Given the description of an element on the screen output the (x, y) to click on. 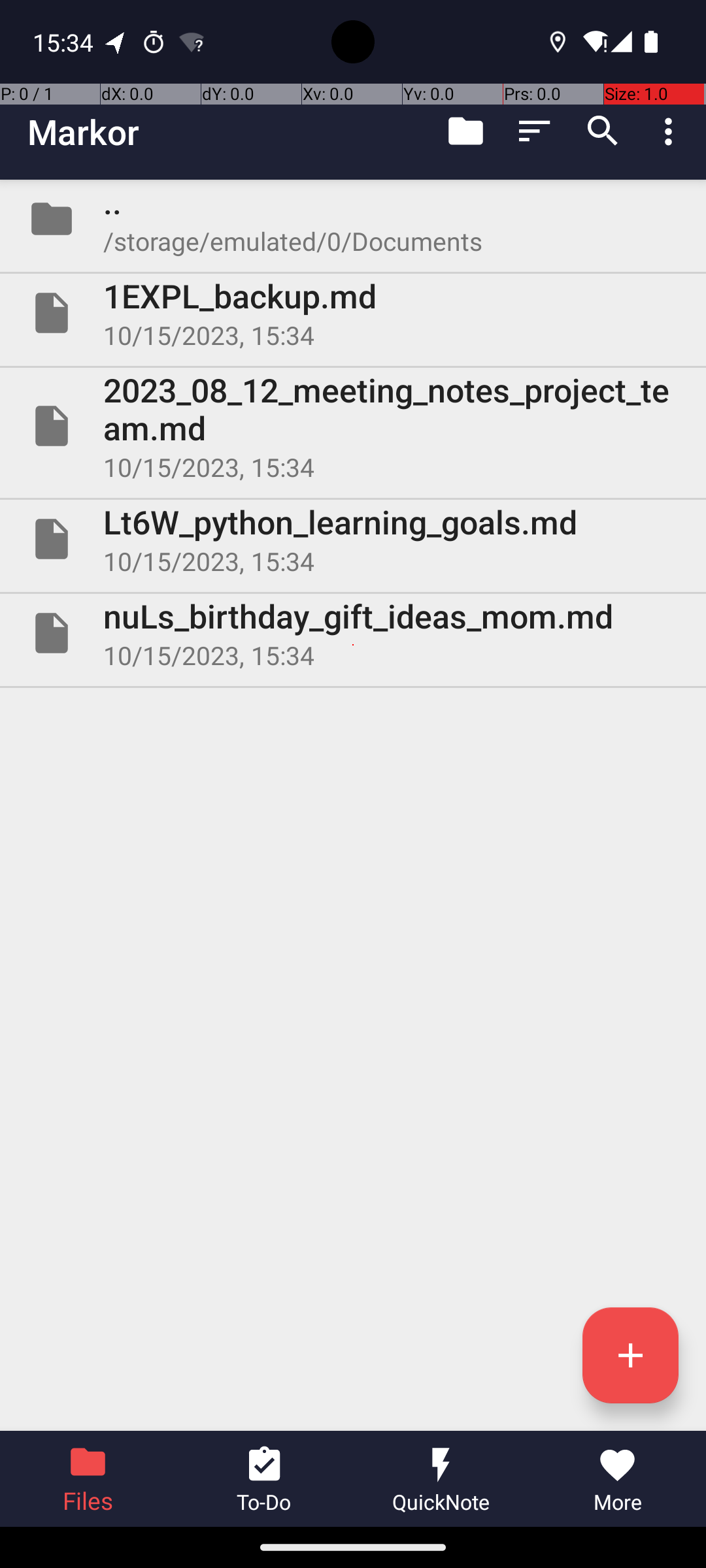
File 1EXPL_backup.md  Element type: android.widget.LinearLayout (353, 312)
File 2023_08_12_meeting_notes_project_team.md  Element type: android.widget.LinearLayout (353, 425)
File Lt6W_python_learning_goals.md  Element type: android.widget.LinearLayout (353, 538)
File nuLs_birthday_gift_ideas_mom.md  Element type: android.widget.LinearLayout (353, 632)
